Given the description of an element on the screen output the (x, y) to click on. 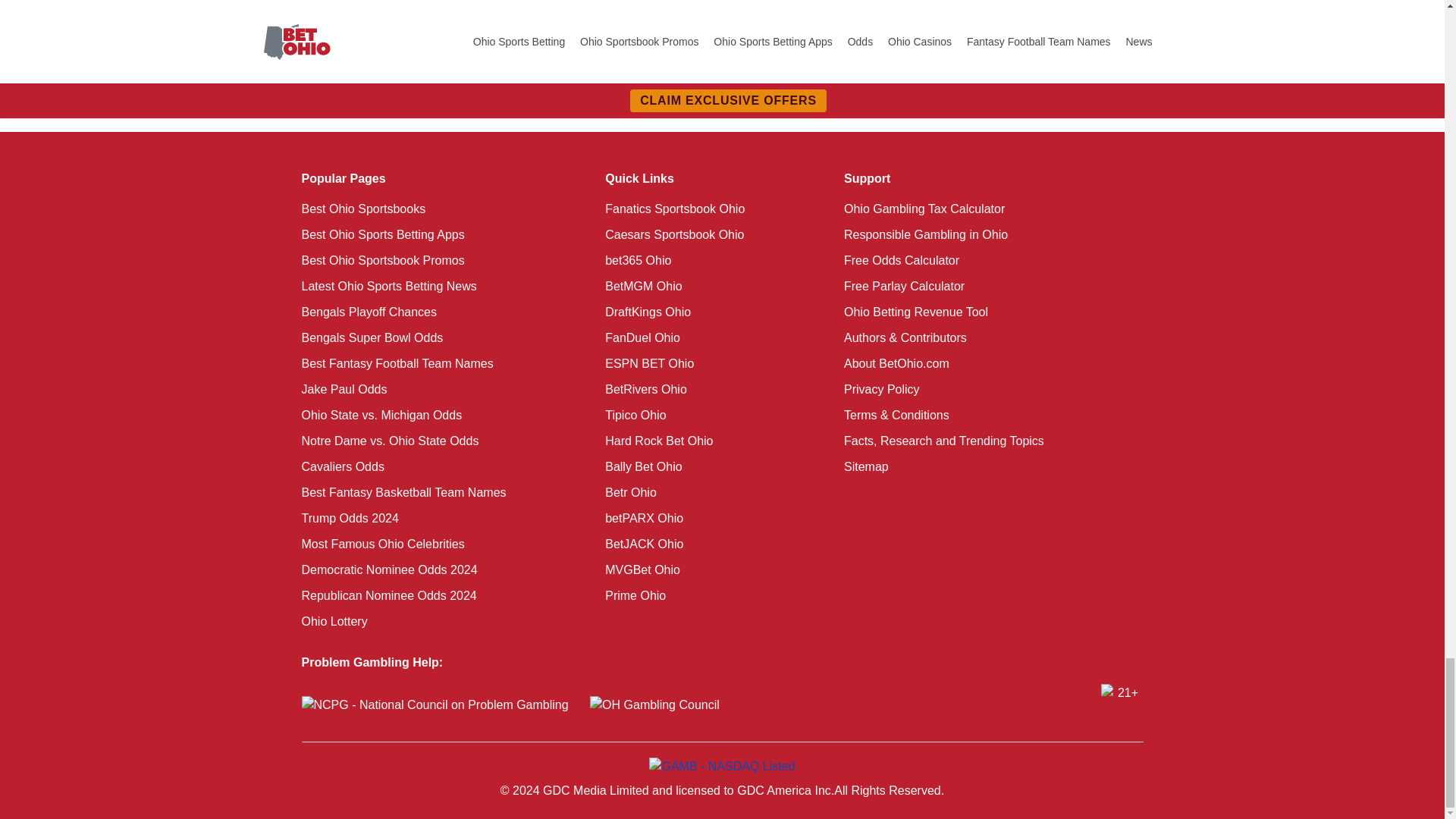
SI (286, 110)
iHeartRadio (580, 110)
Dayton Daily News (760, 110)
ABCN (491, 110)
CC (661, 110)
